Given the description of an element on the screen output the (x, y) to click on. 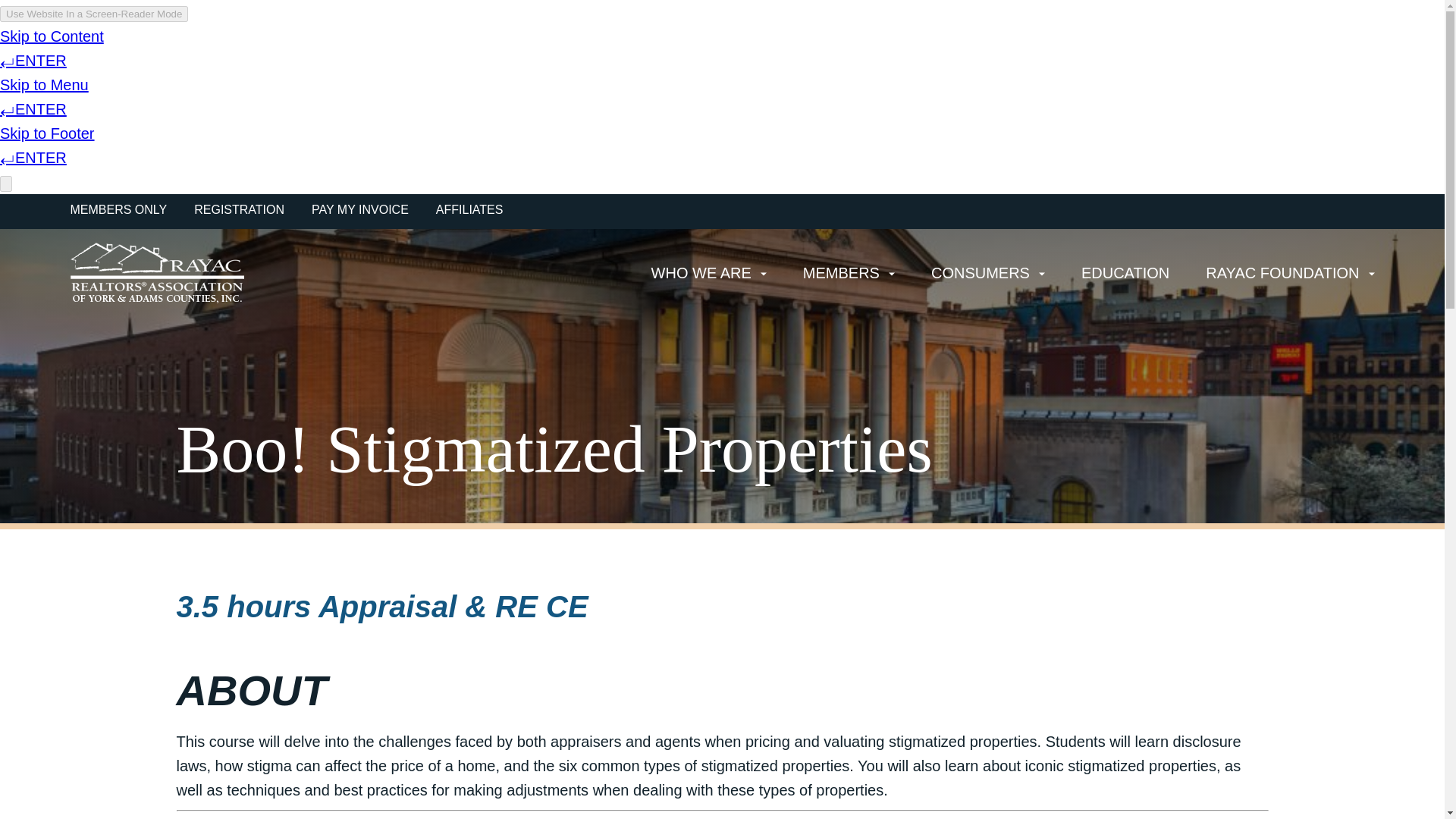
CONSUMERS (988, 272)
AFFILIATES (469, 209)
REGISTRATION (238, 209)
WHO WE ARE (708, 272)
EDUCATION (1125, 272)
PAY MY INVOICE (360, 209)
RAYAC FOUNDATION (1289, 272)
MEMBERS (849, 272)
MEMBERS ONLY (118, 209)
